Given the description of an element on the screen output the (x, y) to click on. 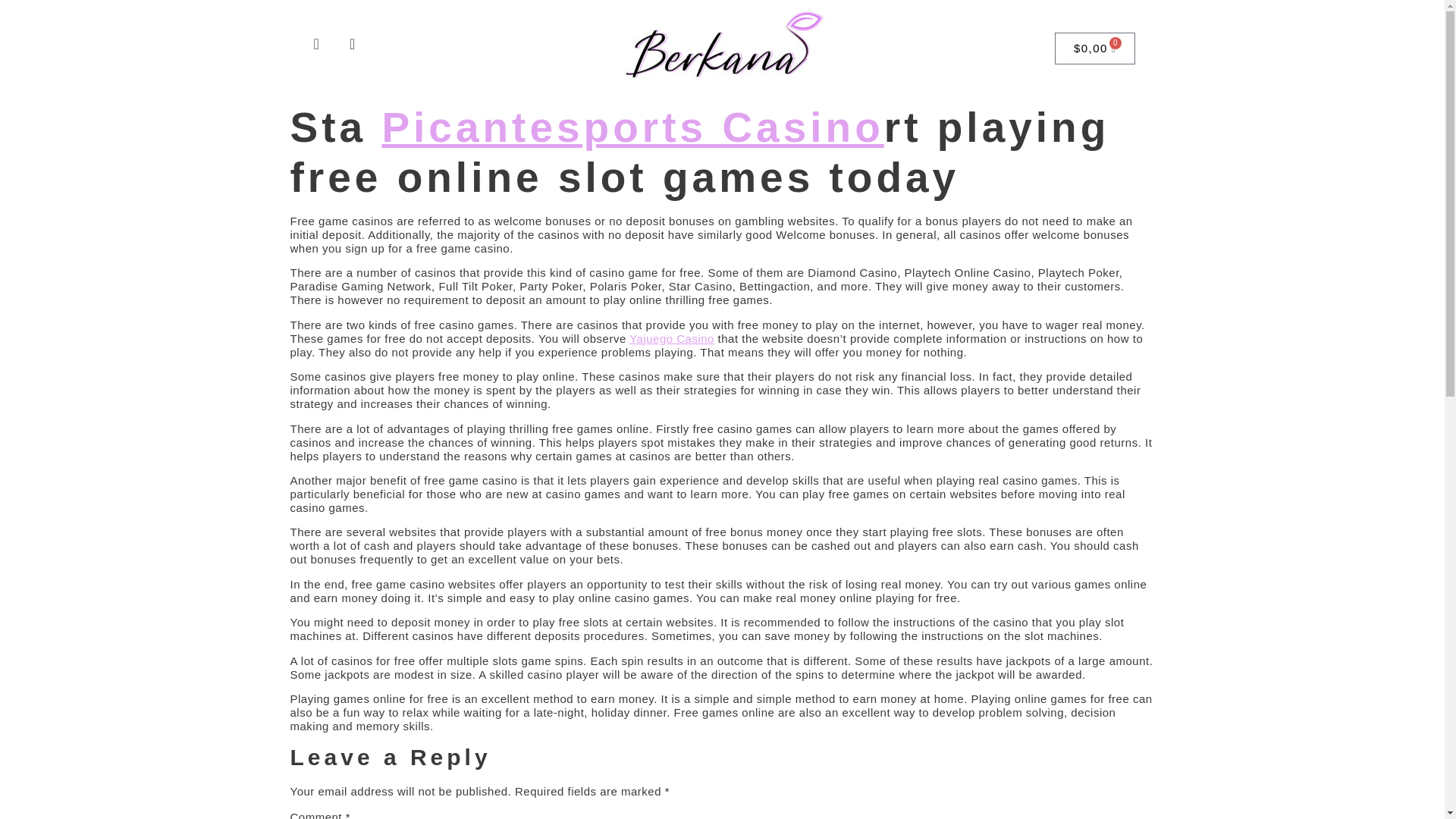
Picantesports Casino (632, 127)
Yajuego Casino (671, 338)
